Given the description of an element on the screen output the (x, y) to click on. 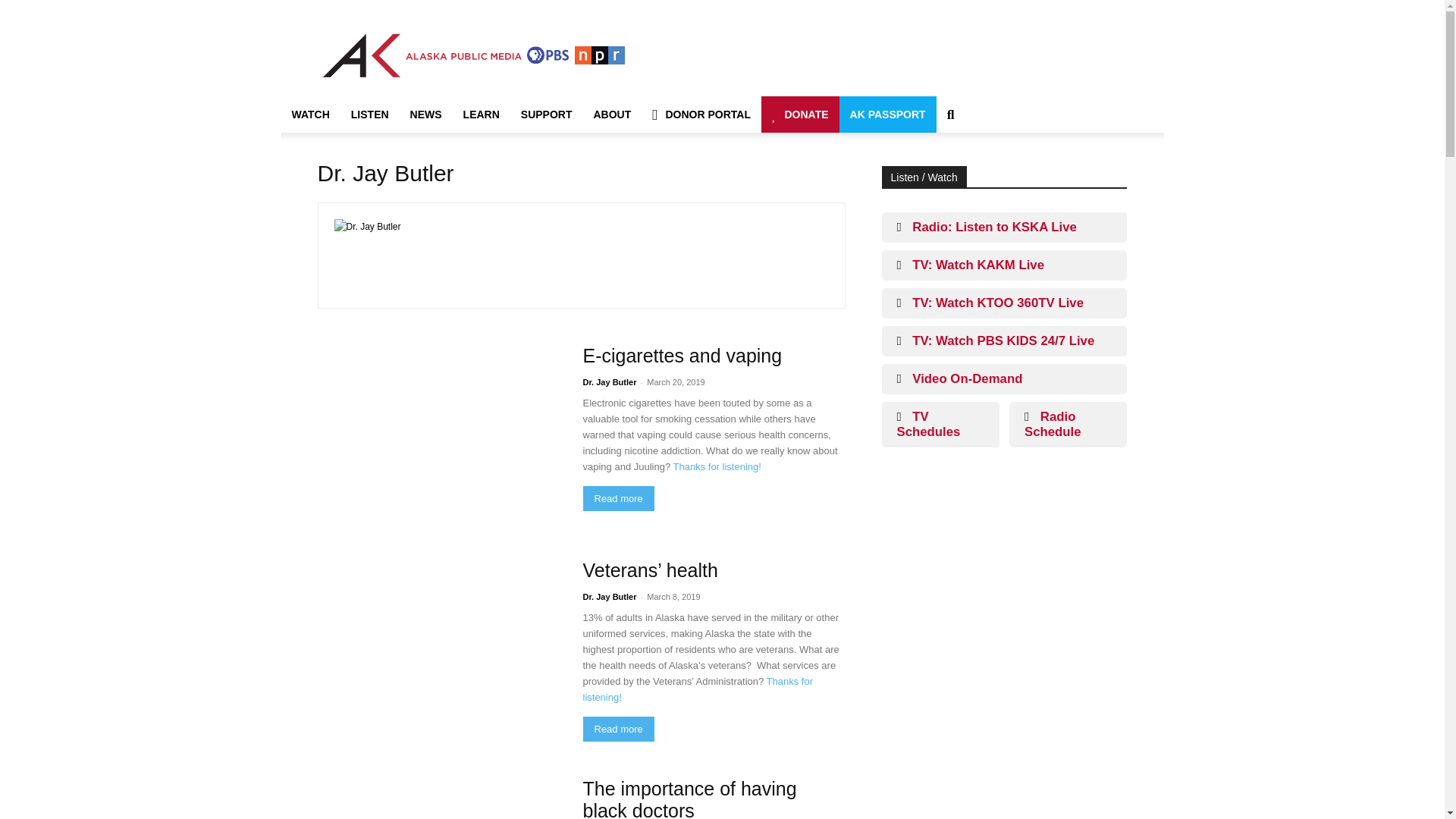
E-cigarettes and vaping (681, 355)
The importance of having black doctors (689, 798)
E-cigarettes and vaping (439, 433)
The importance of having black doctors (439, 798)
Connecting Alaskans. Life Informed.  (472, 55)
